Given the description of an element on the screen output the (x, y) to click on. 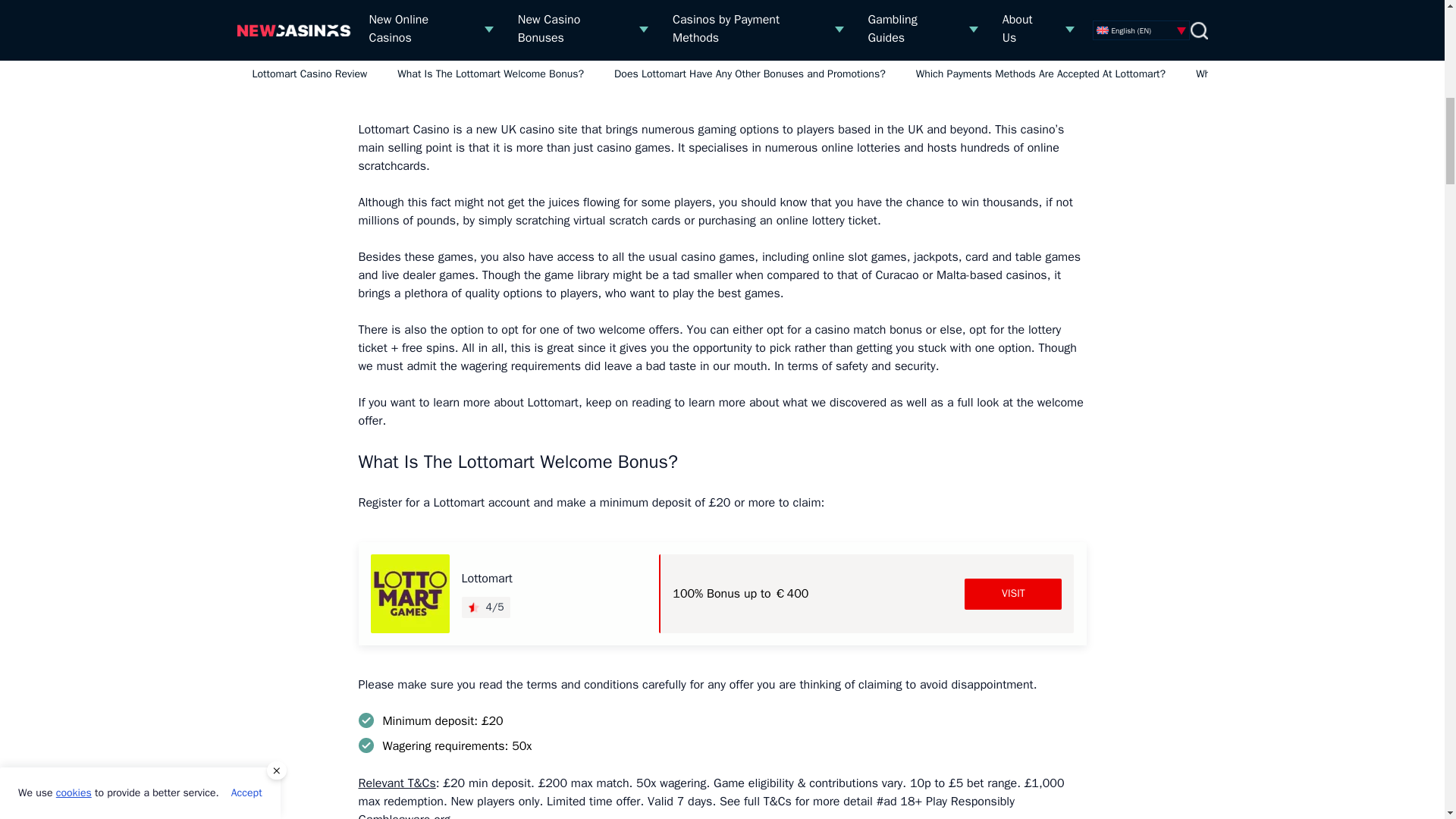
star-rating (473, 607)
Lottomart (408, 593)
Thumbs-Down (747, 1)
Thumbs-Up (373, 1)
Thumbs-Up (373, 33)
